Given the description of an element on the screen output the (x, y) to click on. 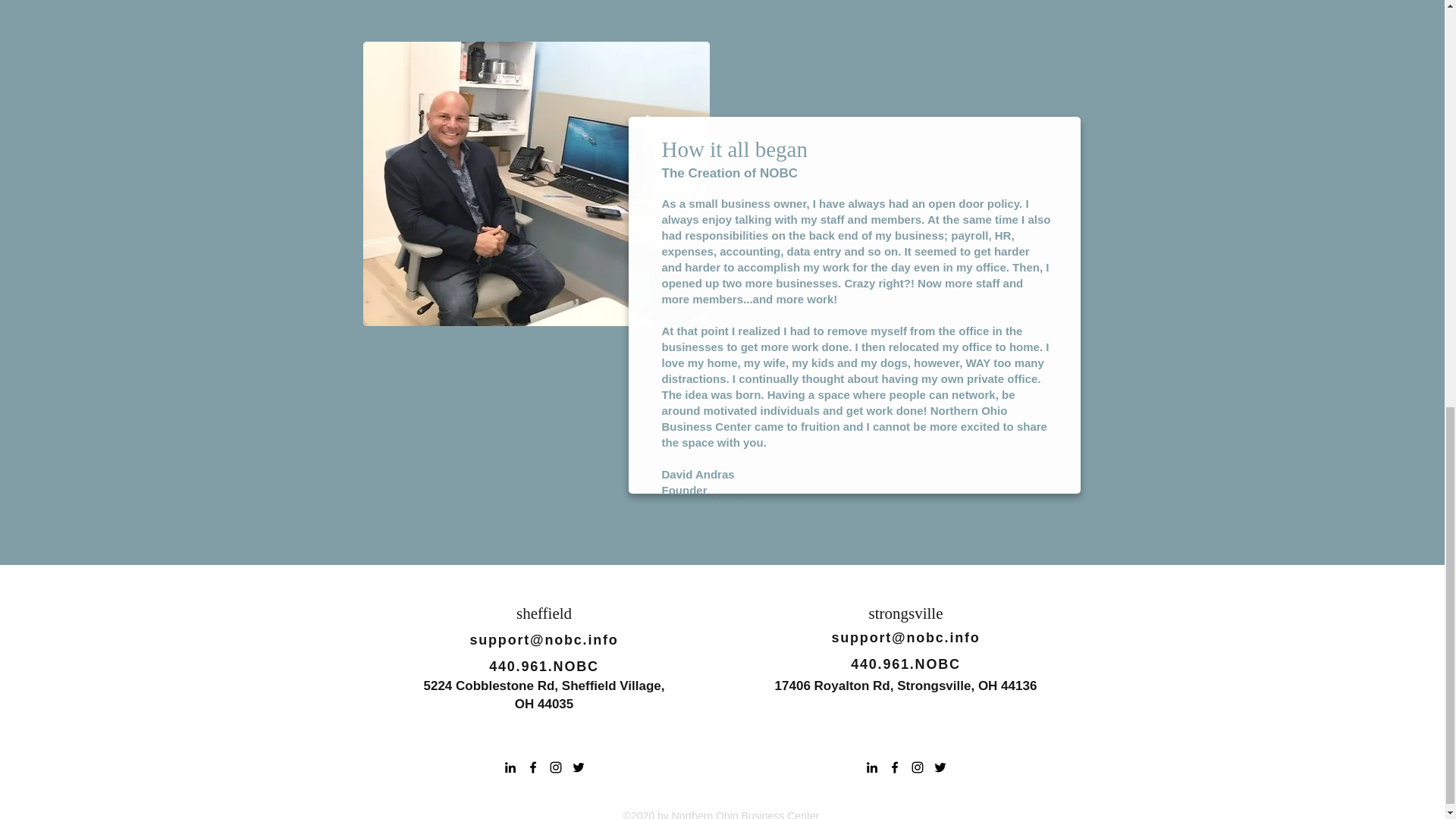
sheffield (544, 613)
www.davidandras.com (722, 505)
strongsville (906, 613)
440.961.NOBC (543, 666)
440.961.NOBC (905, 663)
David Andras (697, 473)
